Given the description of an element on the screen output the (x, y) to click on. 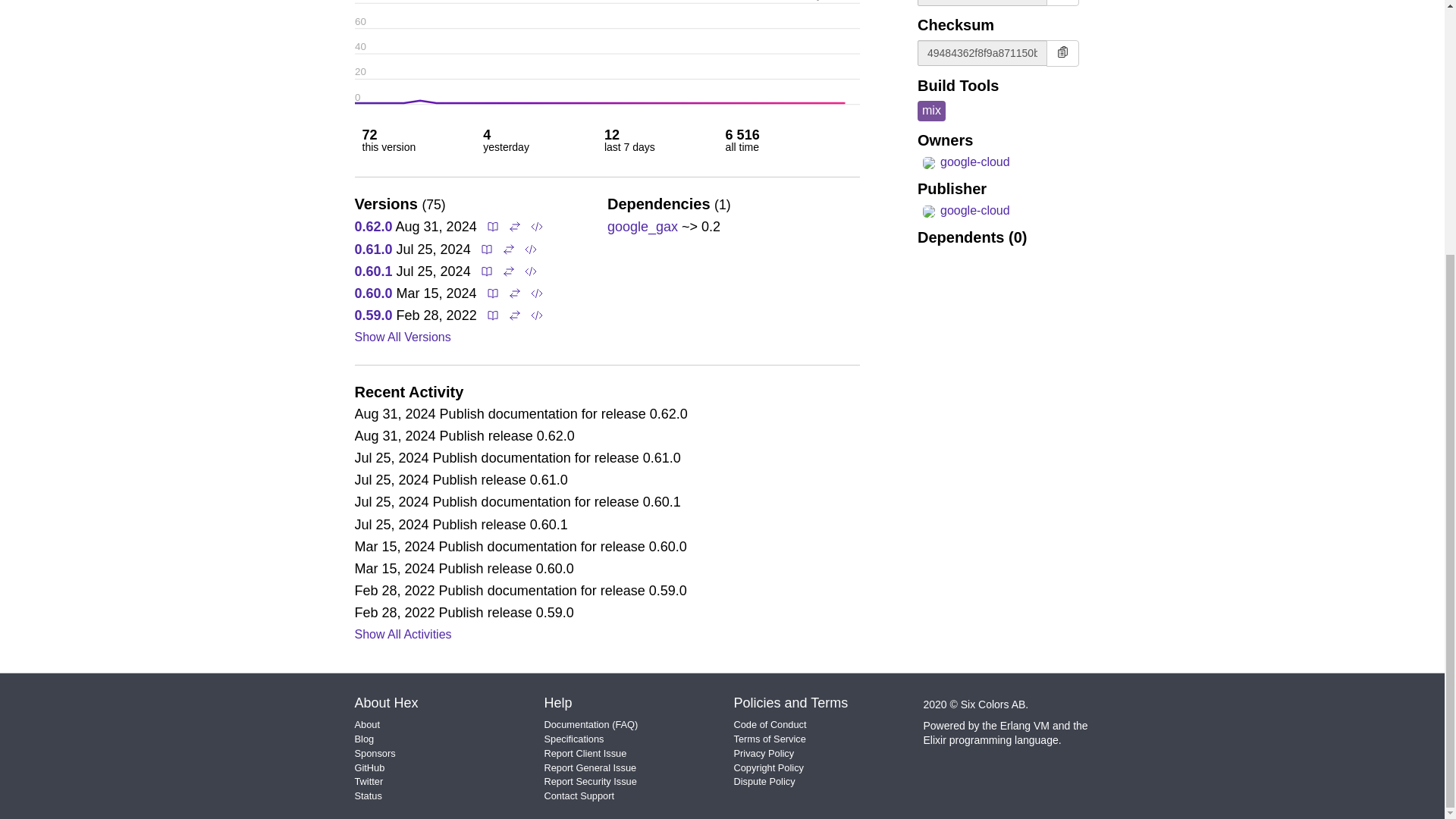
google-cloud (963, 161)
code-bracket (536, 226)
Docs (485, 249)
Diff (513, 226)
book-open (492, 226)
book-open (486, 249)
Docs (491, 226)
book-open (492, 226)
0.59.0 (374, 314)
